Given the description of an element on the screen output the (x, y) to click on. 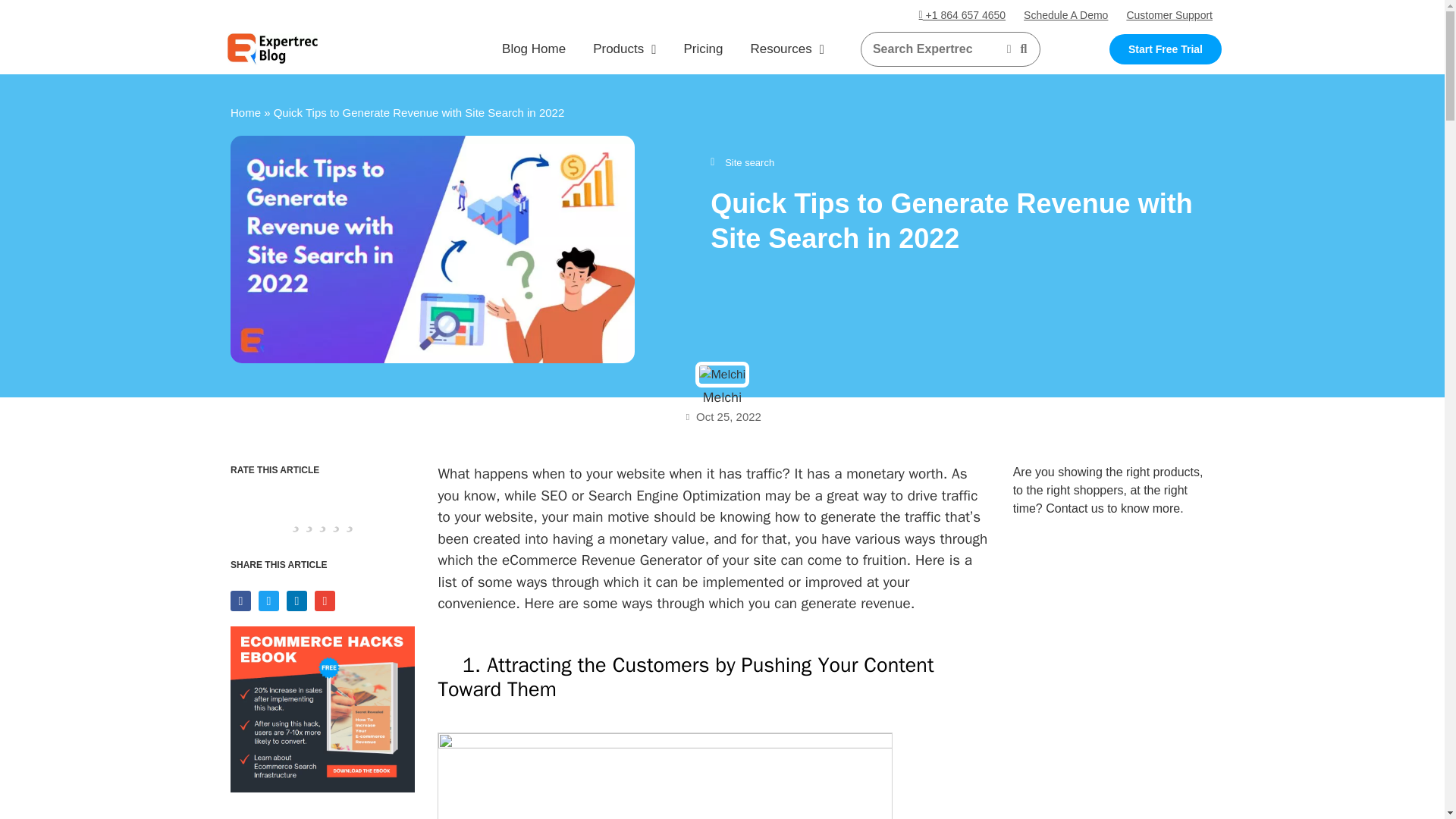
Products (624, 48)
Schedule A Demo (1065, 14)
Search (935, 48)
Customer Support (1168, 14)
Resources (786, 48)
Pricing (702, 48)
Blog Home (533, 48)
